Given the description of an element on the screen output the (x, y) to click on. 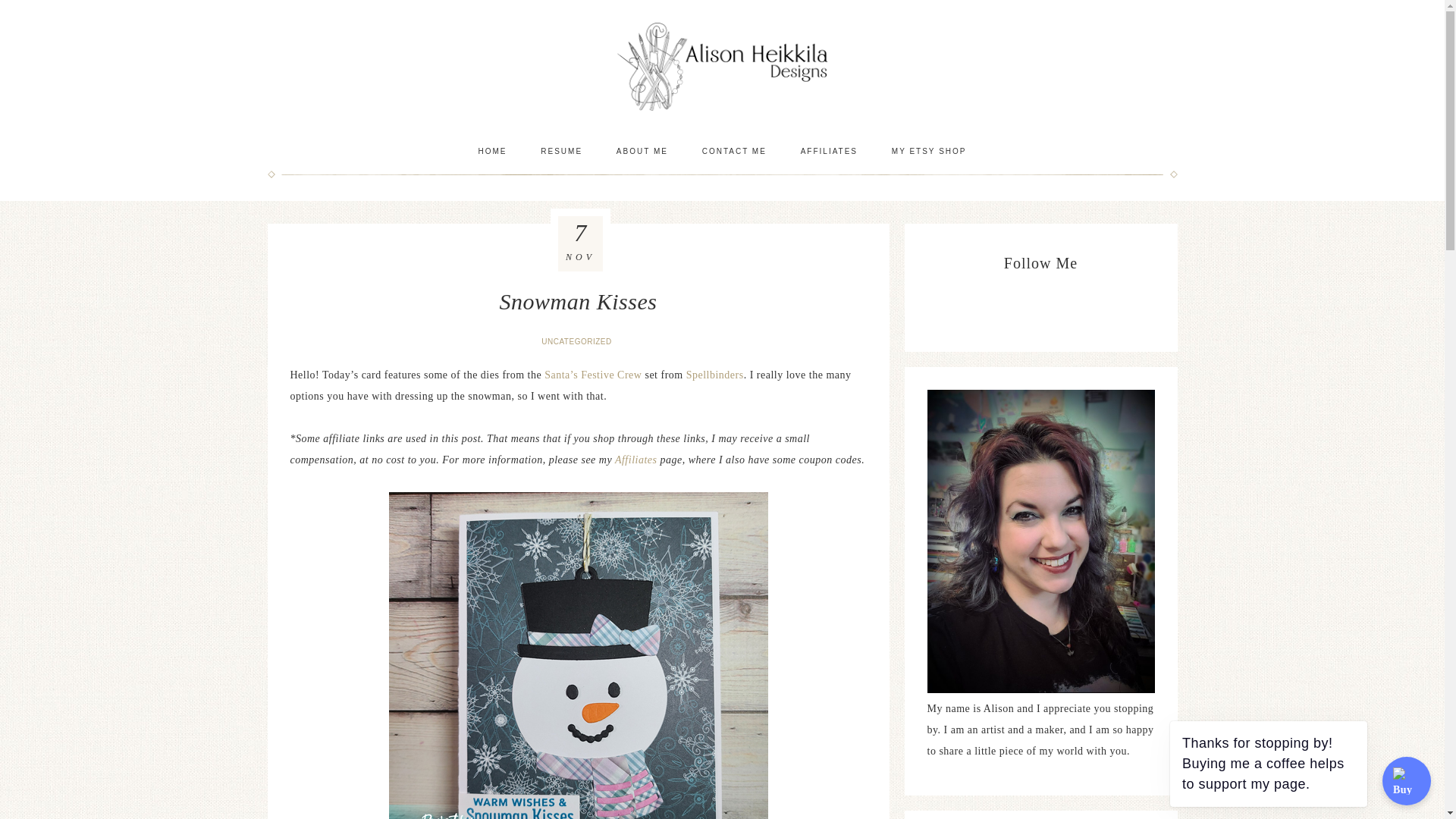
HOME (492, 151)
RESUME (560, 151)
UNCATEGORIZED (577, 341)
ABOUT ME (641, 151)
Affiliates  (637, 460)
ALISON HEIKKILA DESIGNS (722, 65)
CONTACT ME (734, 151)
Spellbinders (714, 374)
AFFILIATES (829, 151)
MY ETSY SHOP (928, 151)
